Given the description of an element on the screen output the (x, y) to click on. 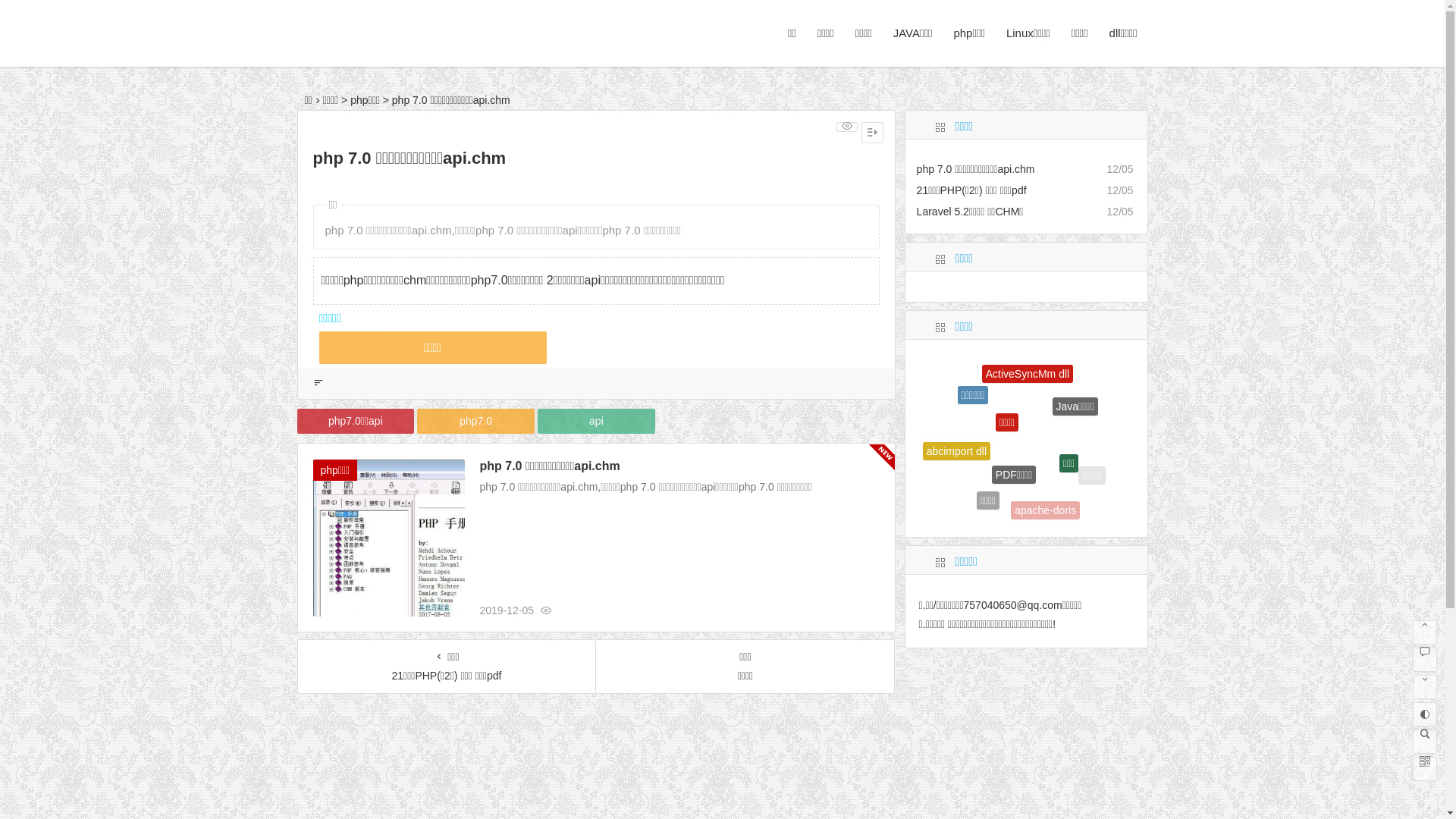
abcimport dll Element type: text (956, 460)
php7.0 Element type: text (475, 420)
ActiveSyncMm dll Element type: text (1027, 393)
AdvancedIntellect Ssl dll Element type: text (1061, 373)
api Element type: text (596, 420)
